Given the description of an element on the screen output the (x, y) to click on. 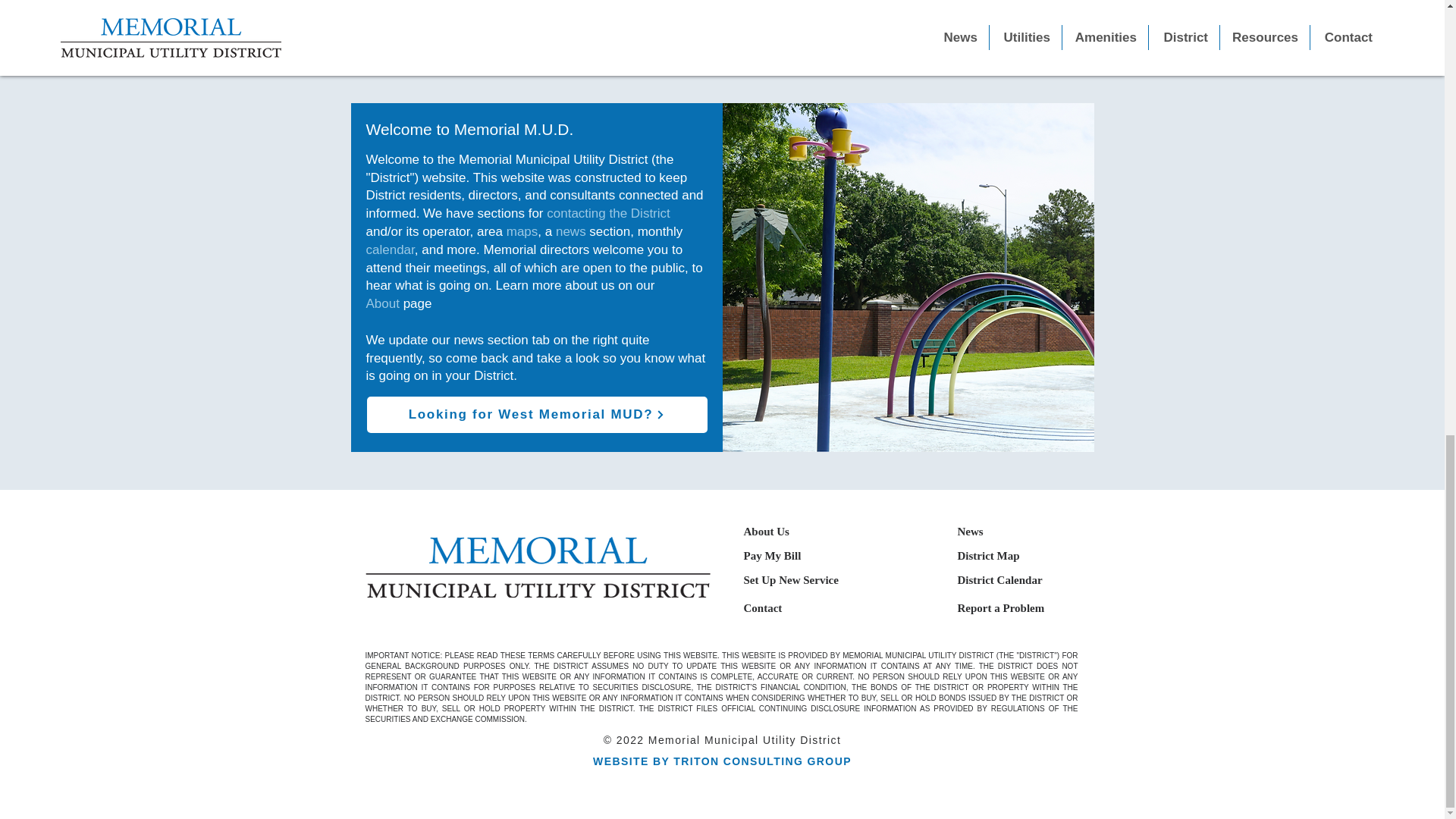
contacting the District (608, 213)
Contact (761, 607)
Pay My Bill (771, 554)
District Map (987, 554)
National Water Quality Month (477, 2)
calendar (389, 249)
About (381, 303)
Looking for West Memorial MUD? (536, 414)
News (969, 531)
About Us (765, 531)
